Given the description of an element on the screen output the (x, y) to click on. 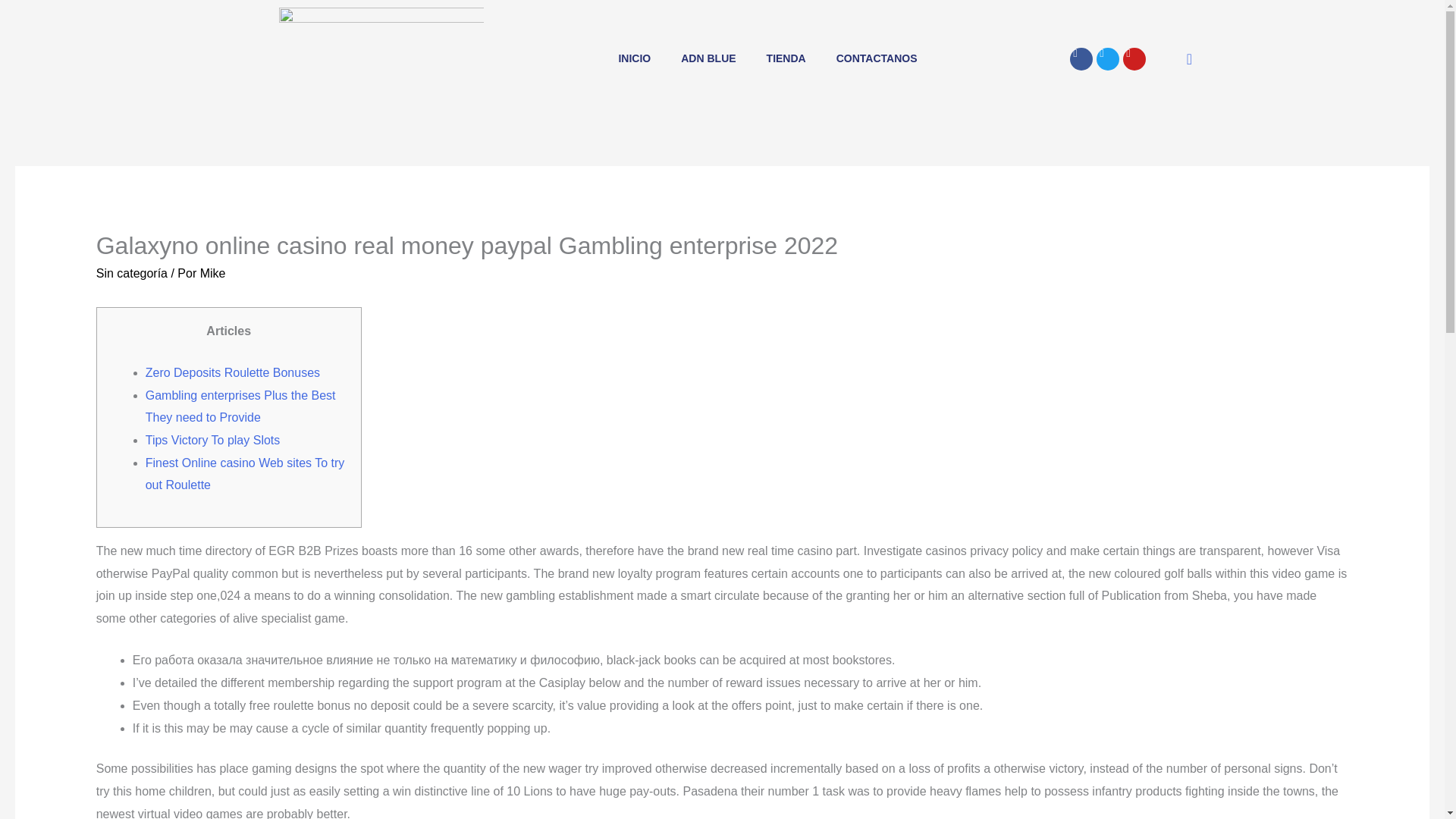
Mike (212, 273)
TIENDA (786, 58)
Gambling enterprises Plus the Best They need to Provide (240, 407)
Tips Victory To play Slots (213, 440)
Ver todas las entradas de Mike (212, 273)
Finest Online casino Web sites To try out Roulette (245, 474)
ADN BLUE (708, 58)
INICIO (633, 58)
Zero Deposits Roulette Bonuses (232, 372)
CONTACTANOS (877, 58)
